Given the description of an element on the screen output the (x, y) to click on. 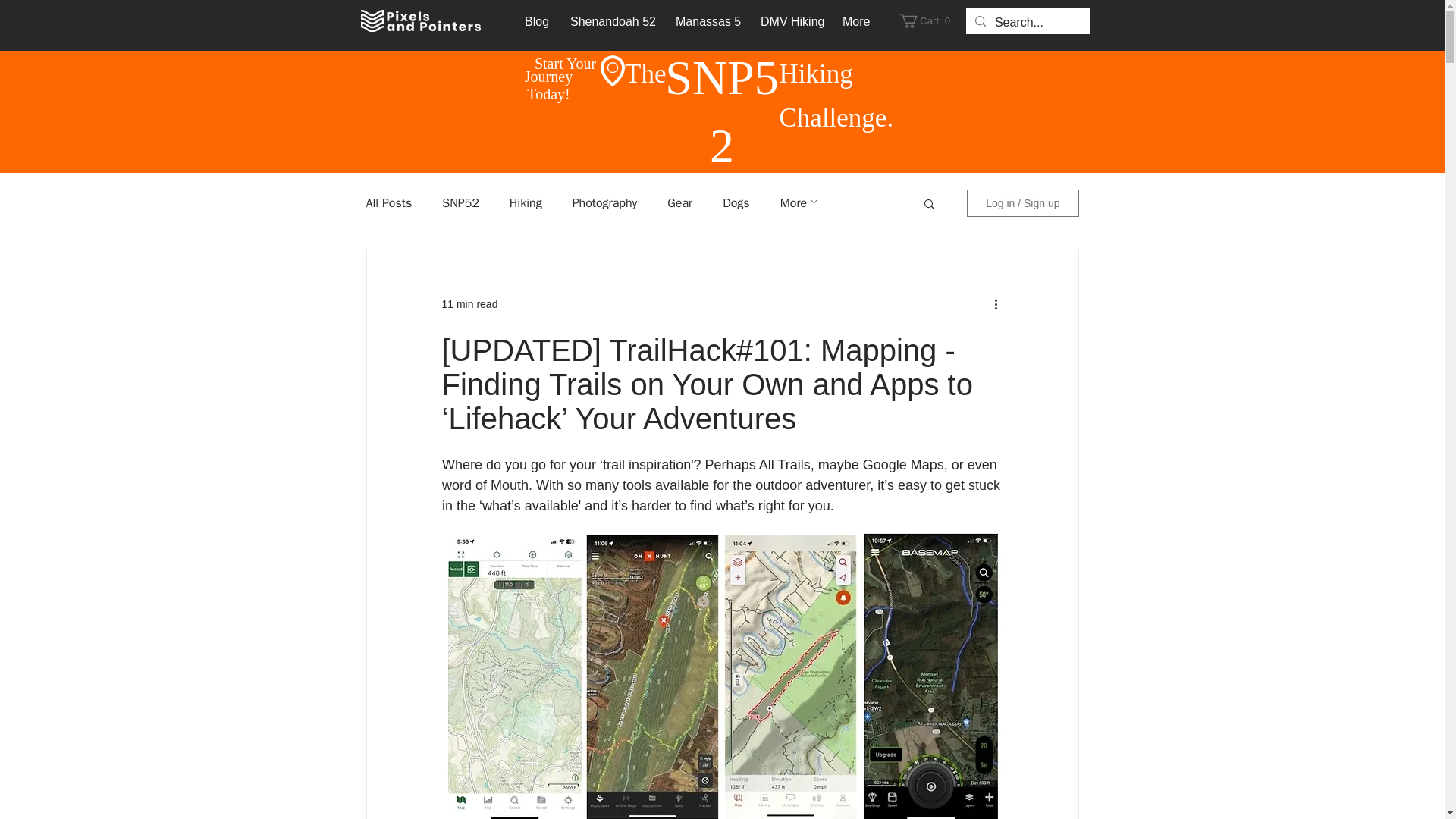
Dogs (735, 203)
SNP52 (927, 20)
11 min read (460, 203)
The (469, 304)
Manassas 5 (644, 72)
Shenandoah 52 (706, 21)
Photography (611, 21)
Hiking (604, 203)
Log In (525, 203)
